Given the description of an element on the screen output the (x, y) to click on. 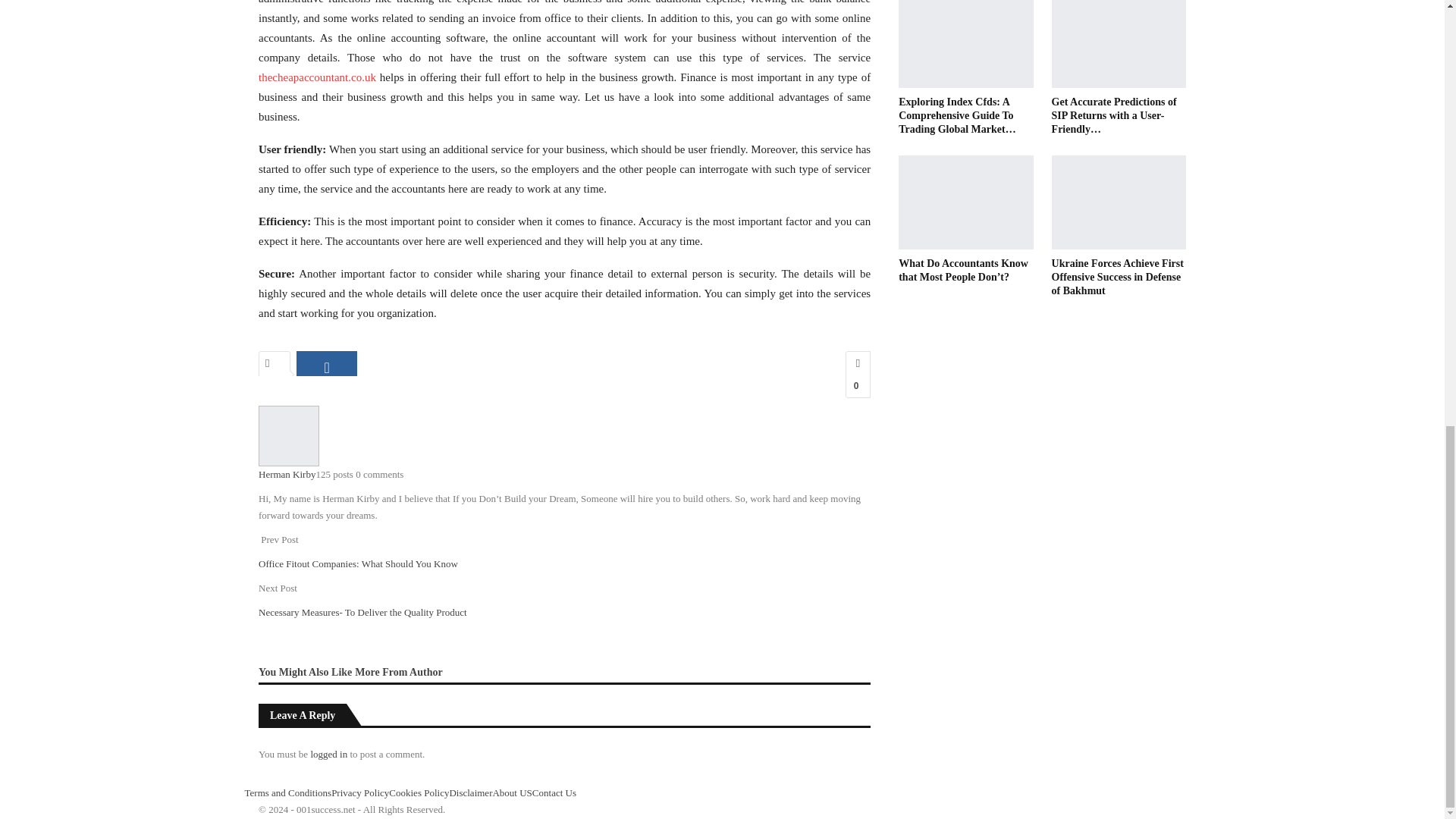
Herman Kirby (287, 473)
thecheapaccountant.co.uk (317, 77)
Necessary Measures- To Deliver the Quality Product (363, 612)
Browse Author Articles (288, 434)
More From Author (398, 671)
Office Fitout Companies: What Should You Know (358, 563)
You Might Also Like (307, 671)
